Given the description of an element on the screen output the (x, y) to click on. 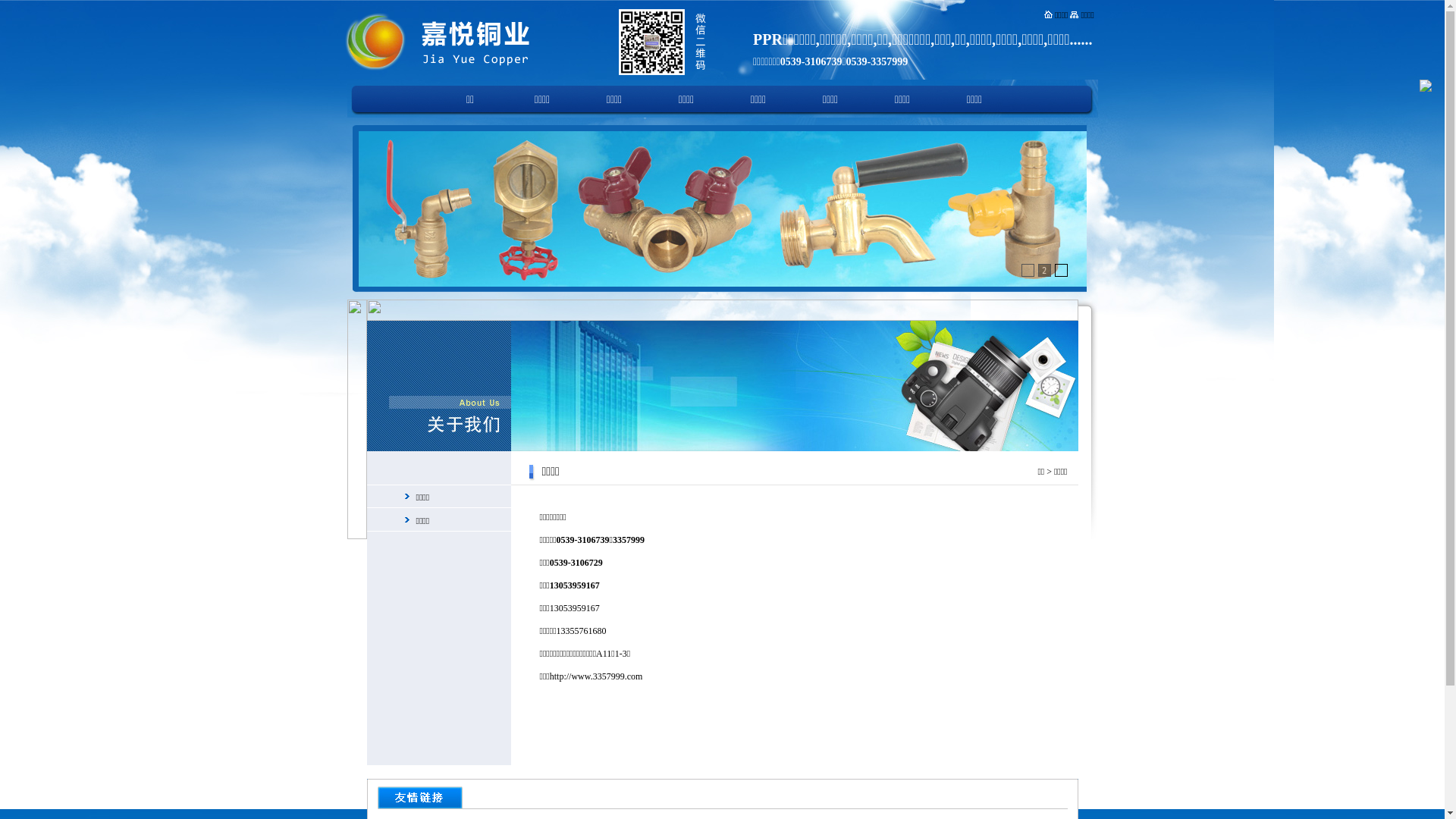
http://www.3357999.com Element type: text (596, 676)
